Given the description of an element on the screen output the (x, y) to click on. 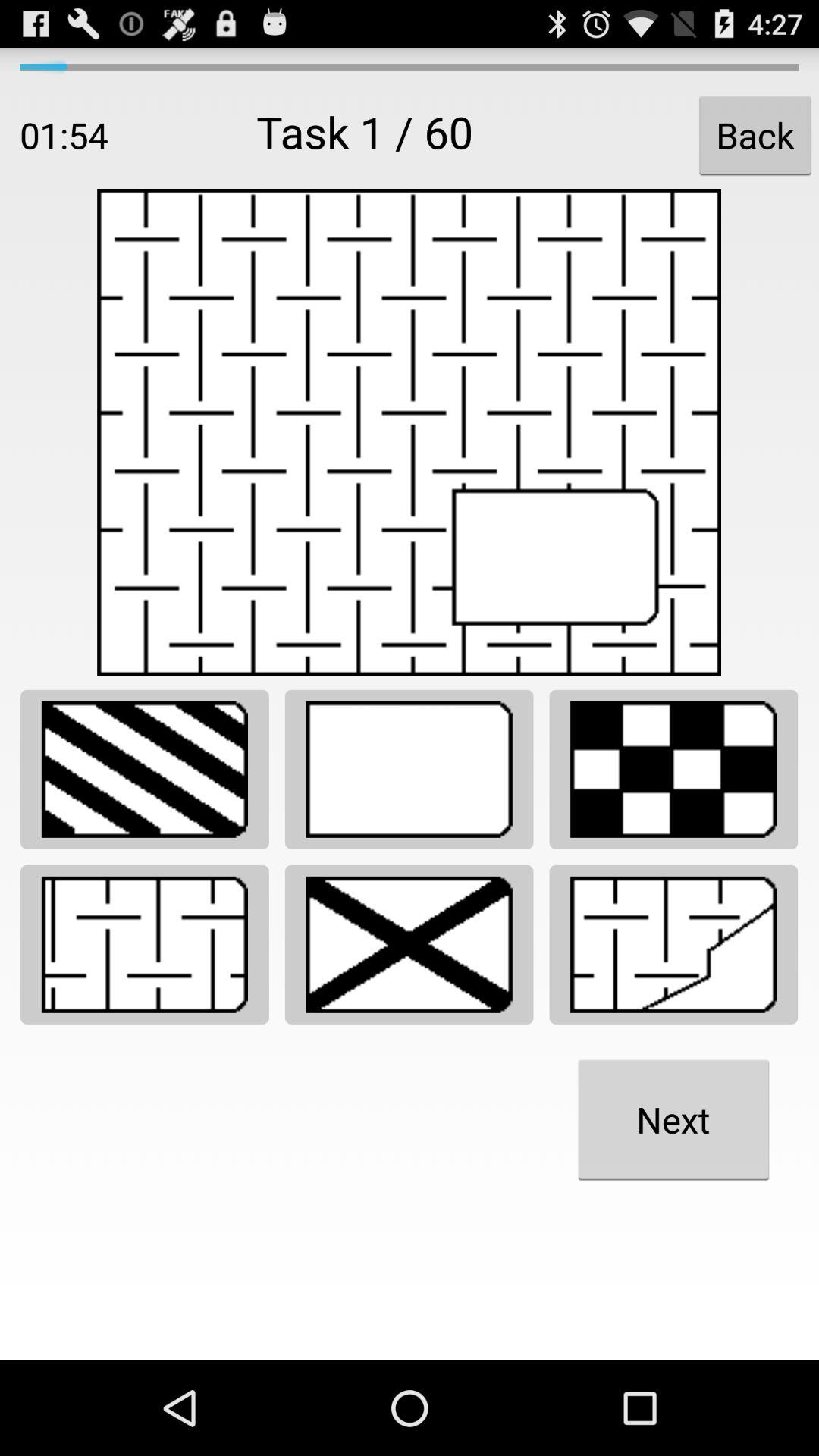
select pattern answer (144, 769)
